Given the description of an element on the screen output the (x, y) to click on. 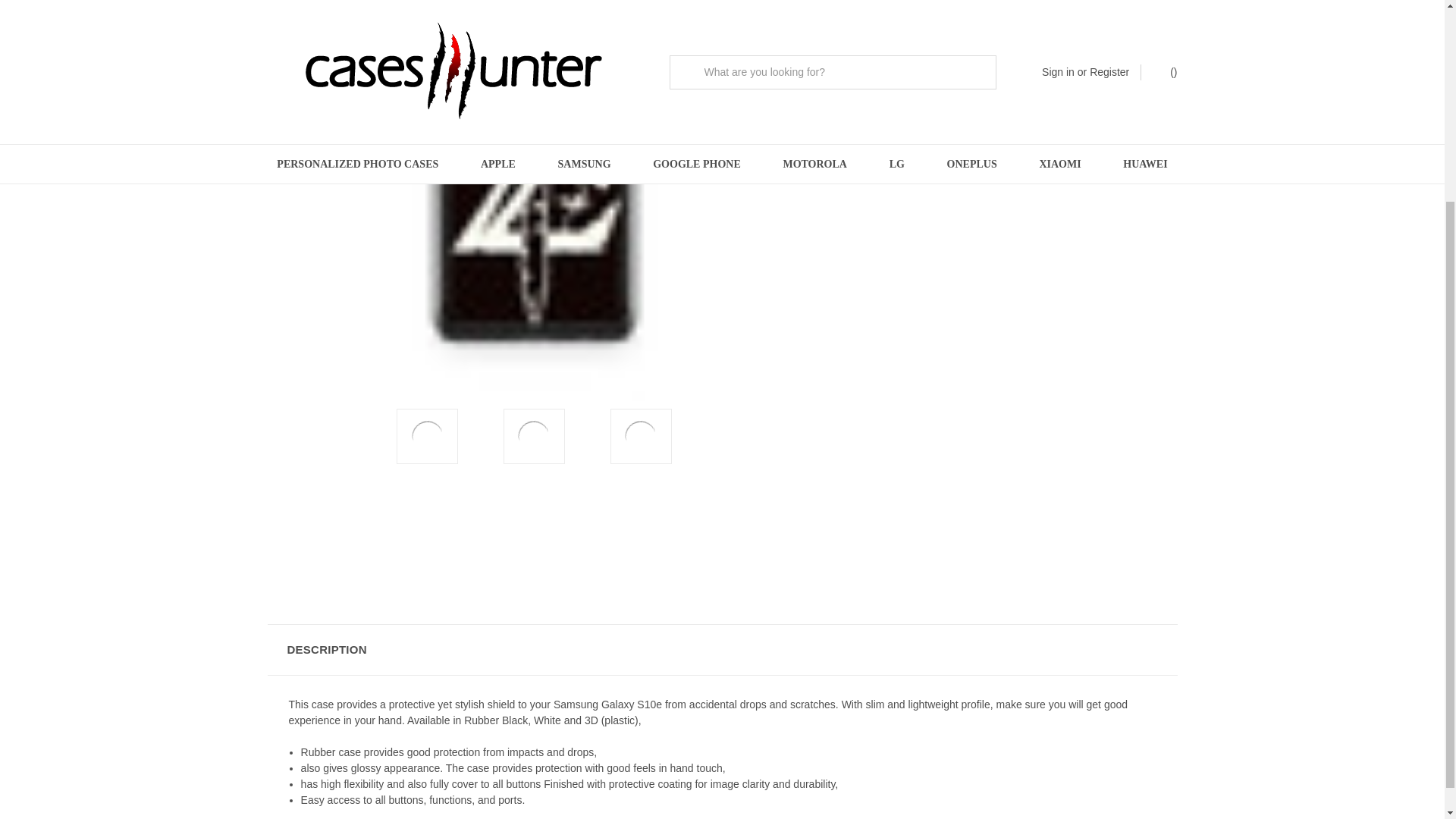
Zelda Minimalist Samsung Galaxy S10e Case (427, 436)
1 (865, 13)
Zelda Minimalist Samsung Galaxy S10e Case (534, 436)
Add to Cart (890, 76)
Zelda Minimalist Samsung Galaxy S10e Case (640, 436)
